Given the description of an element on the screen output the (x, y) to click on. 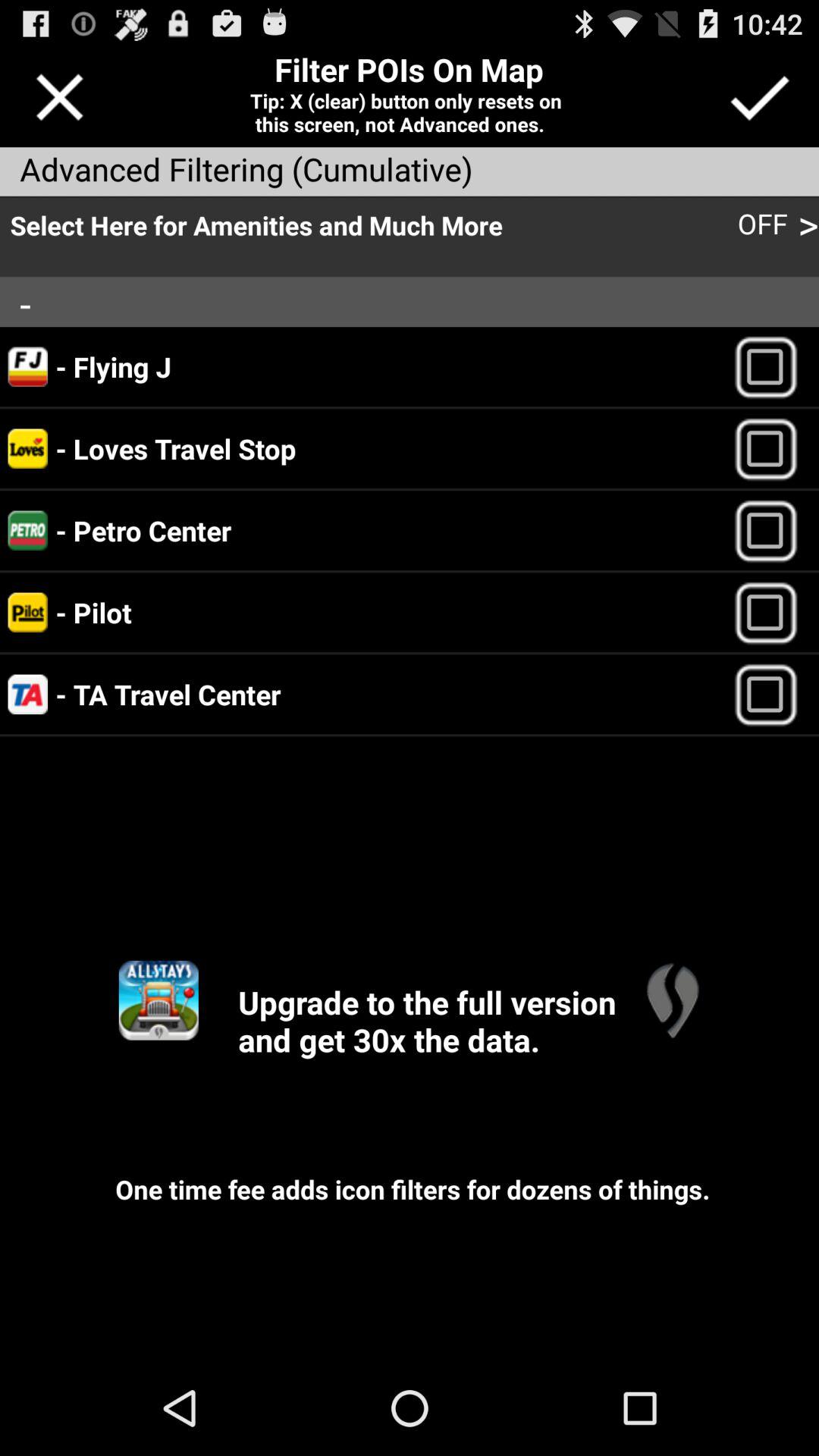
select the option (772, 530)
